Given the description of an element on the screen output the (x, y) to click on. 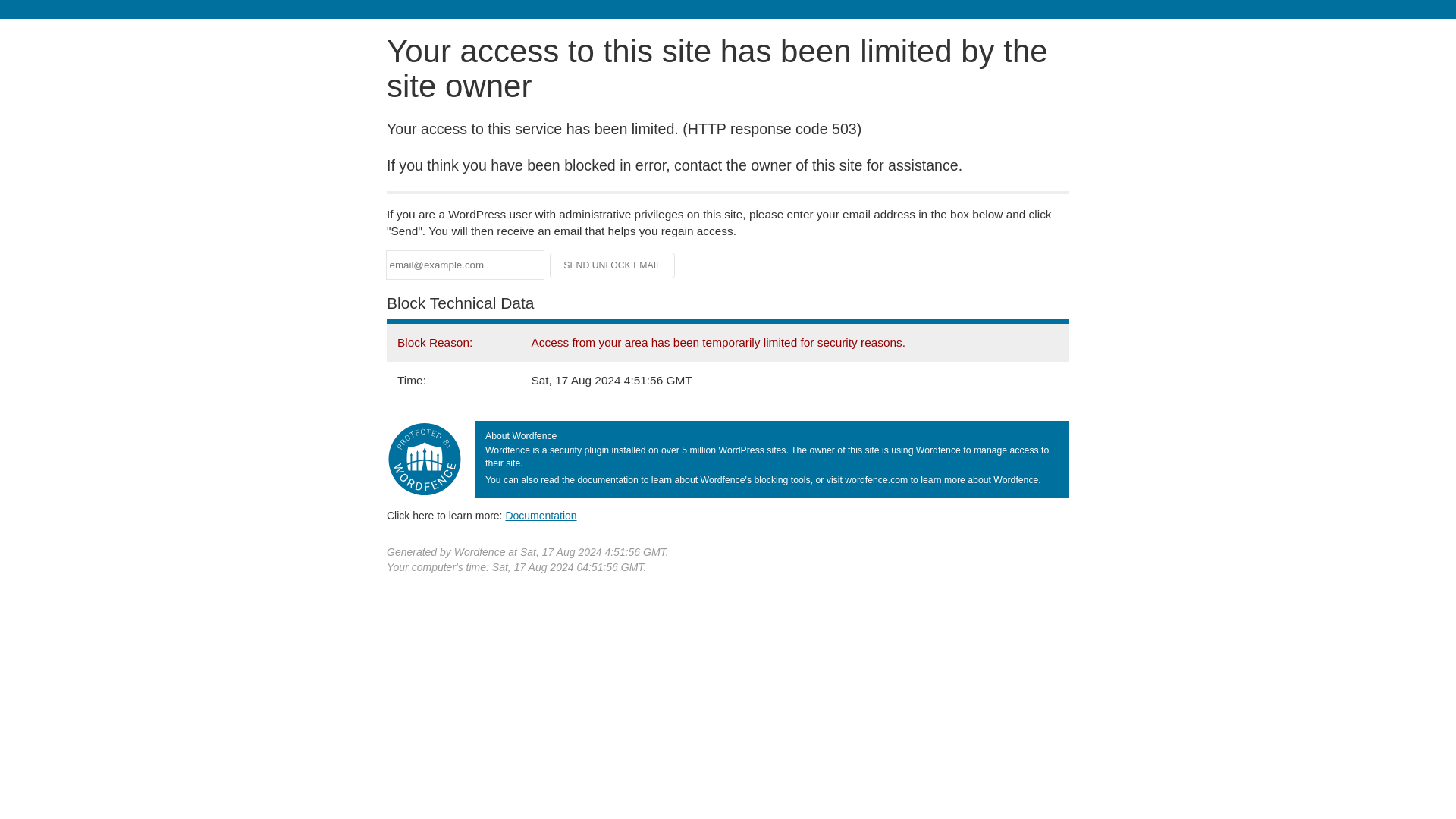
Send Unlock Email (612, 265)
Documentation (540, 515)
Send Unlock Email (612, 265)
